Given the description of an element on the screen output the (x, y) to click on. 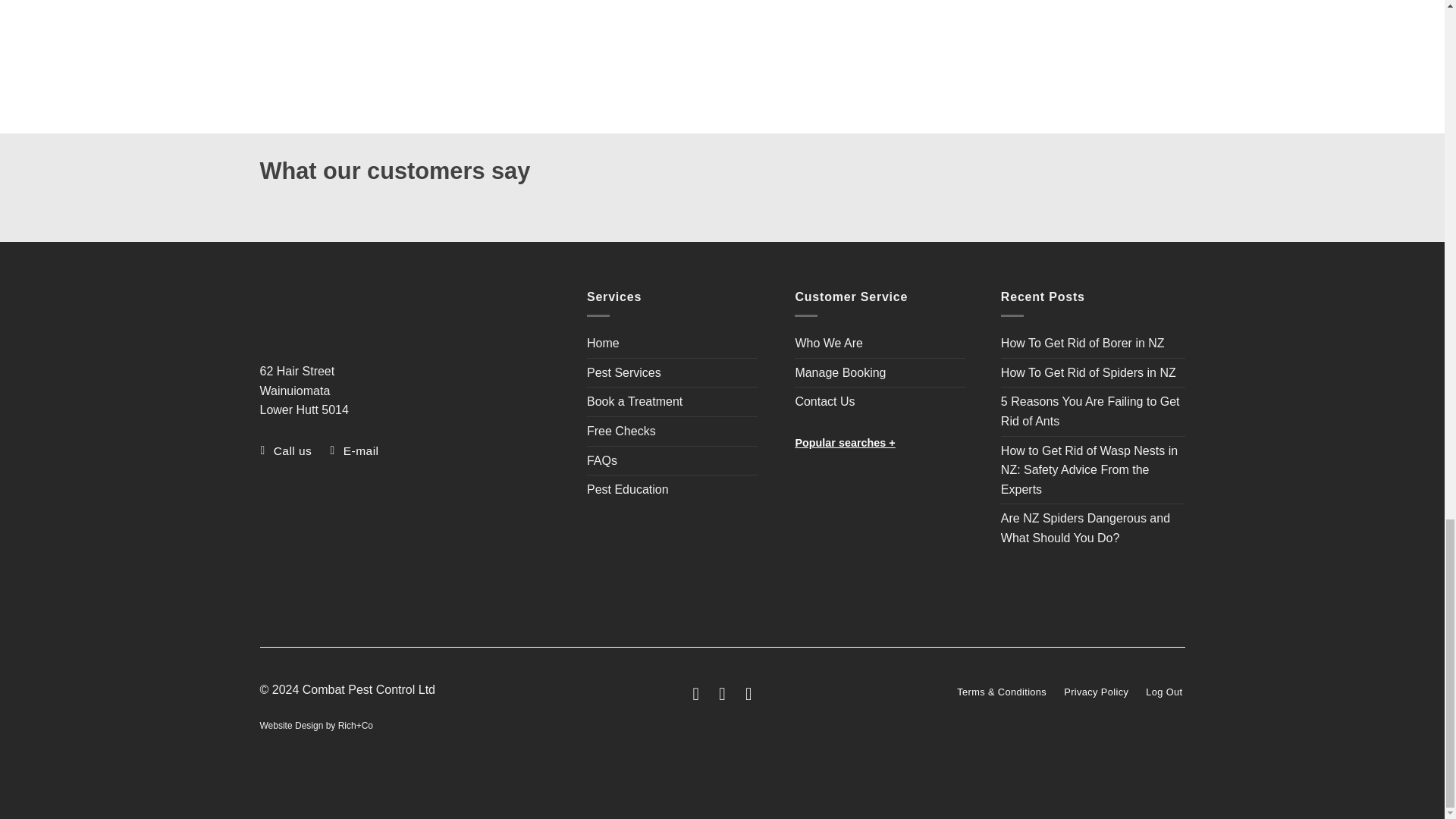
Pest Services (623, 372)
Call us (286, 450)
E-mail (355, 450)
Home (603, 343)
